Given the description of an element on the screen output the (x, y) to click on. 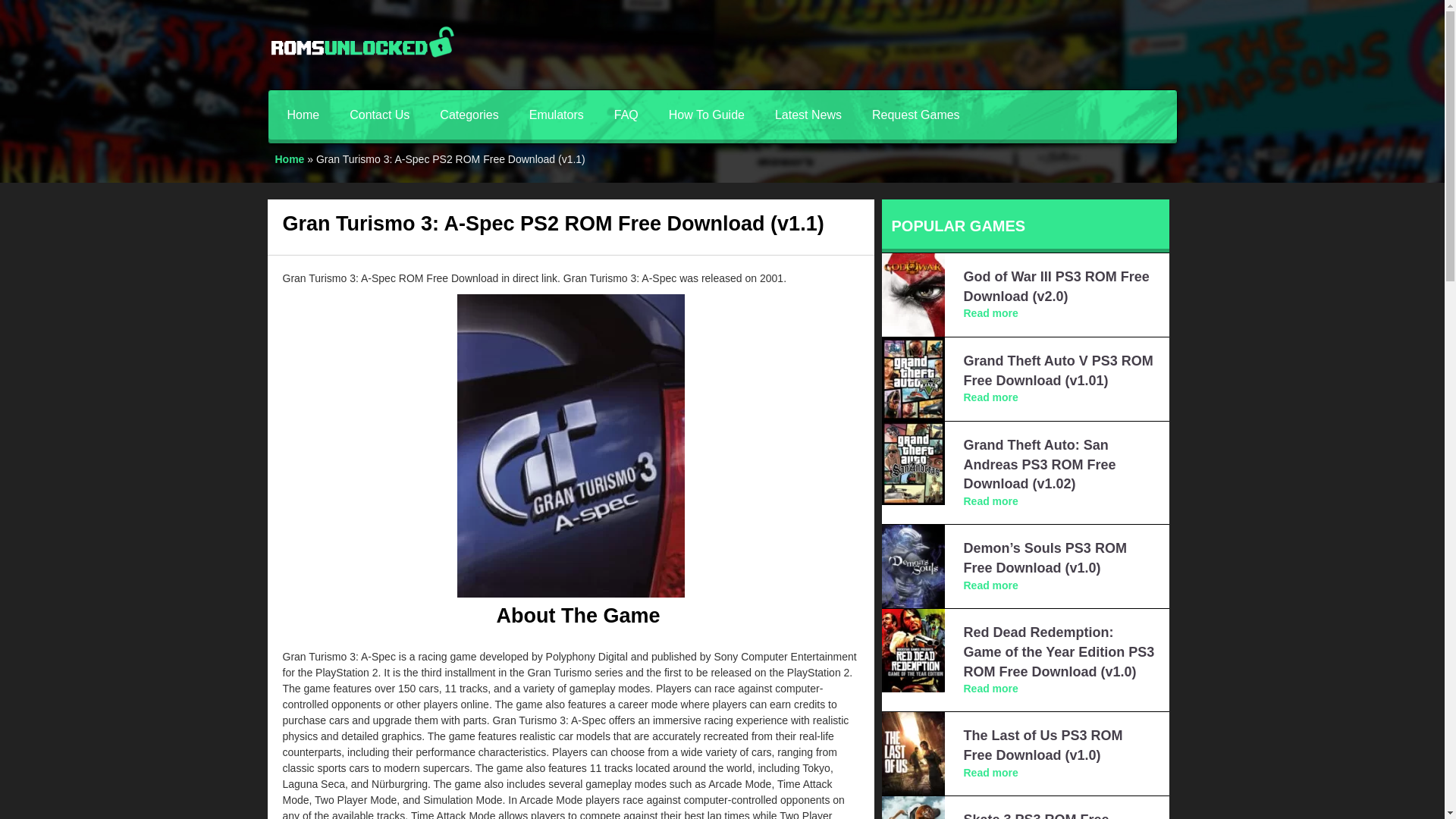
Read more (989, 313)
Read more (989, 772)
Read more (989, 500)
Home (302, 114)
Contact Us (379, 114)
FAQ (625, 114)
Read more (989, 688)
Read more (989, 585)
Home (289, 159)
Read more (989, 397)
Categories (469, 114)
Emulators (555, 114)
Request Games (916, 114)
How To Guide (706, 114)
Latest News (808, 114)
